Given the description of an element on the screen output the (x, y) to click on. 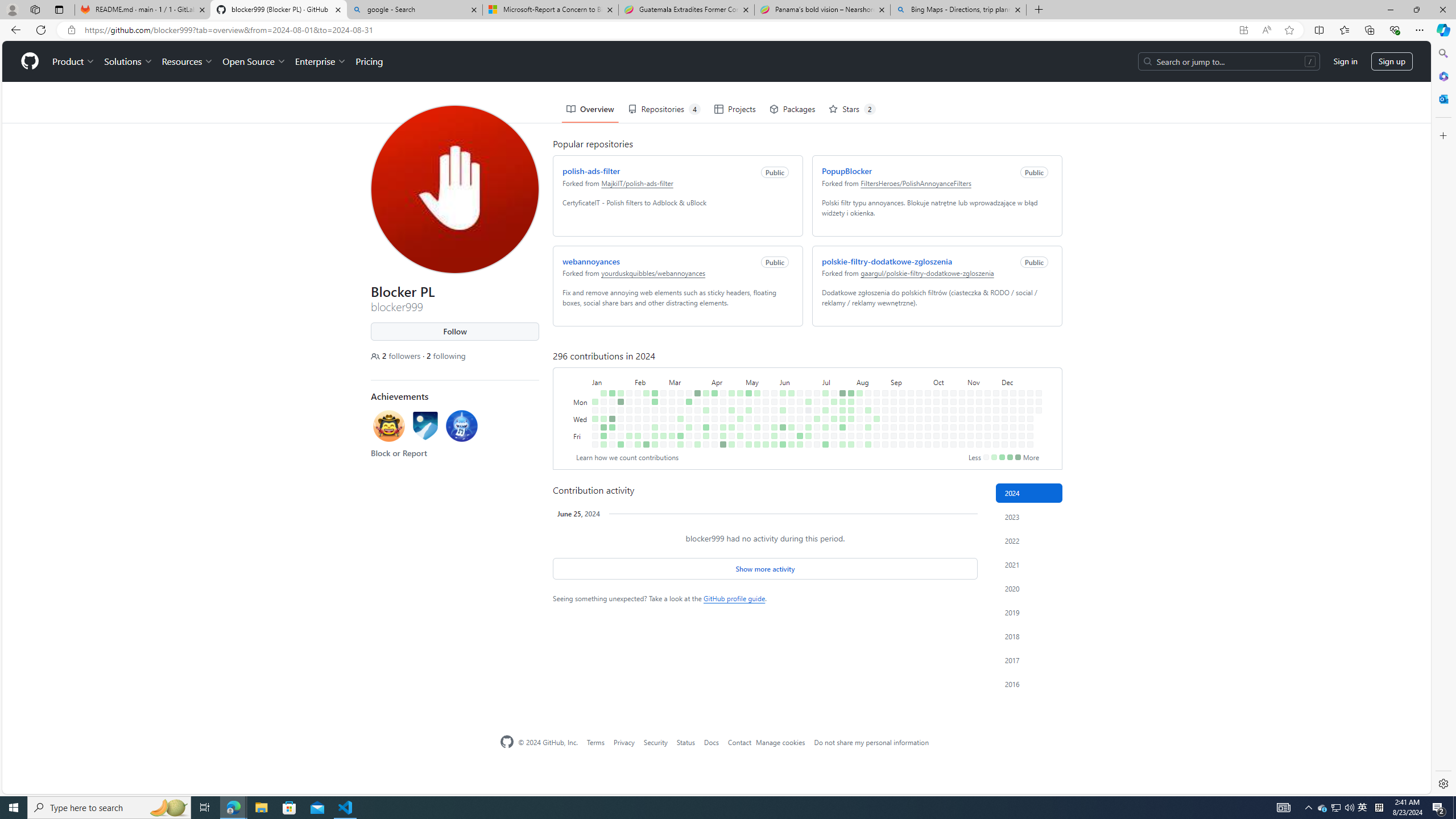
No contributions on October 4th. (925, 394)
1 contribution on February 23rd. (652, 394)
No contributions on September 17th. (908, 369)
No contributions on October 9th. (933, 377)
No contributions on February 25th. (660, 351)
No contributions on October 28th. (959, 360)
No contributions on December 1st. (1002, 351)
Solutions (126, 20)
No contributions on February 4th. (635, 351)
No contributions on December 11th. (1010, 377)
No contributions on March 14th. (678, 386)
2017 (1028, 659)
8 contributions on February 17th. (646, 444)
No contributions on June 7th. (780, 394)
